Given the description of an element on the screen output the (x, y) to click on. 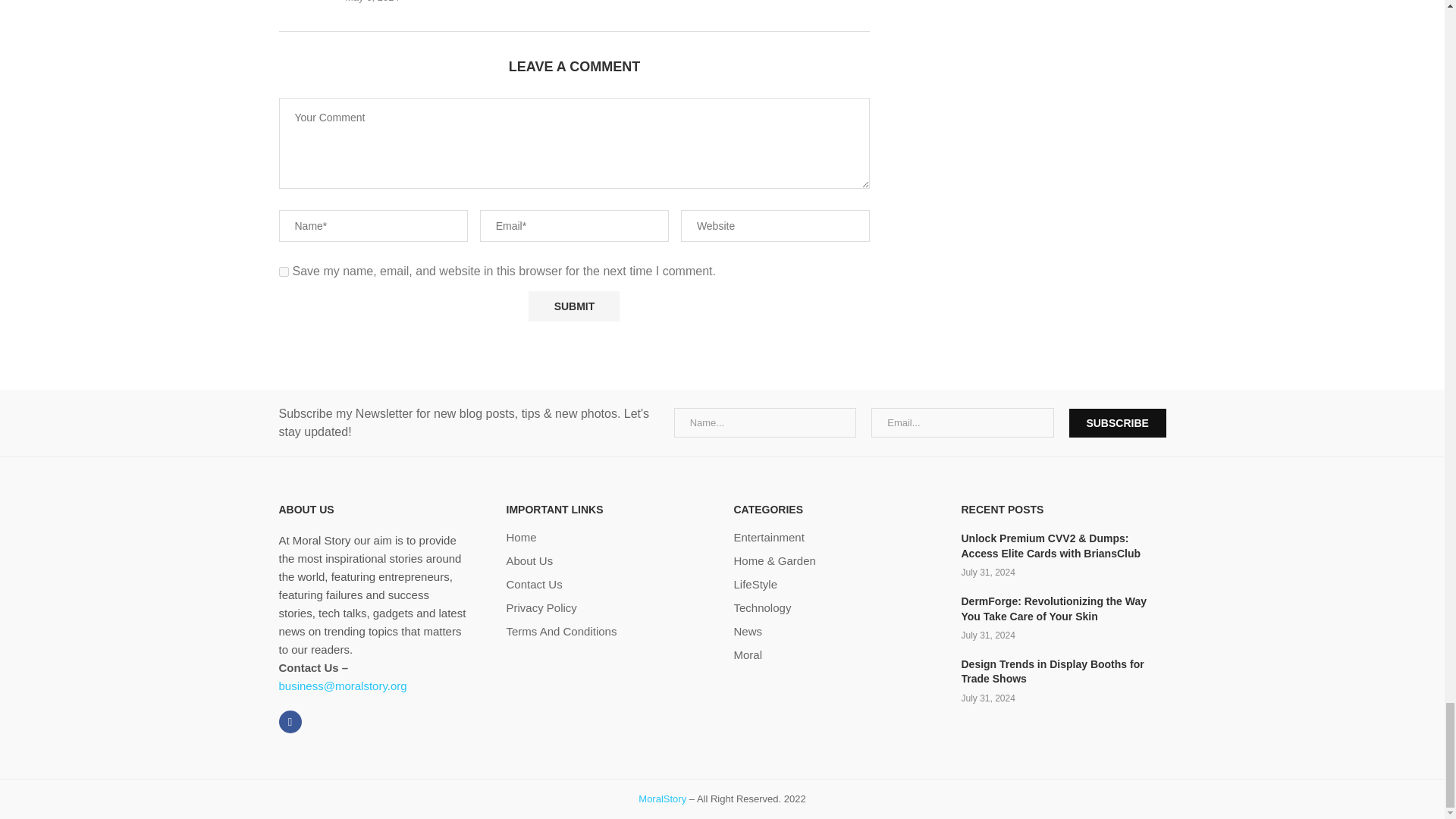
Subscribe (1117, 422)
Submit (574, 306)
yes (283, 271)
